Given the description of an element on the screen output the (x, y) to click on. 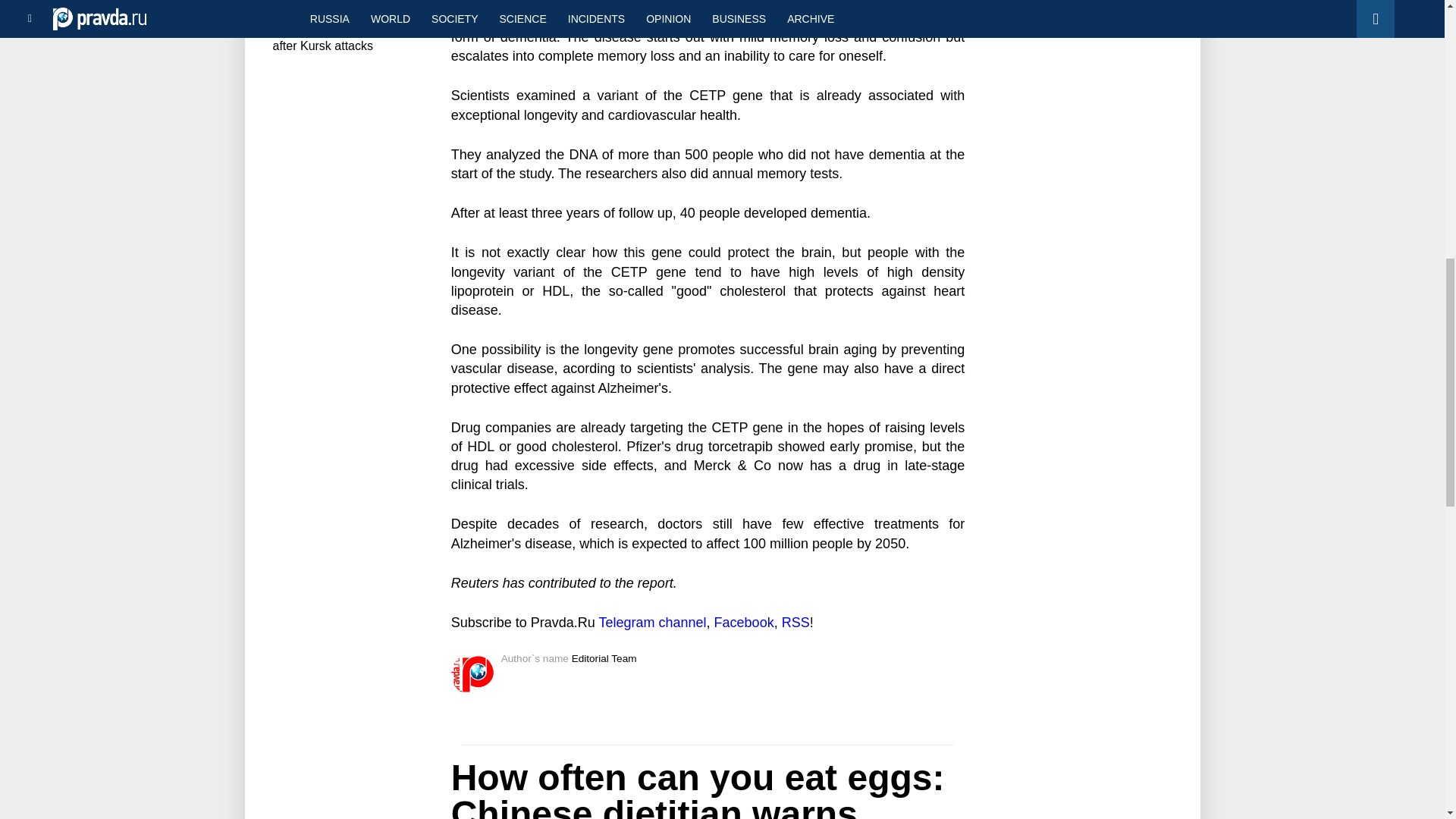
Back to top (1418, 79)
Telegram channel (652, 622)
Editorial Team (604, 658)
Putin excludes negotiations with Ukraine after Kursk attacks (341, 31)
Facebook (744, 622)
RSS (795, 622)
